Given the description of an element on the screen output the (x, y) to click on. 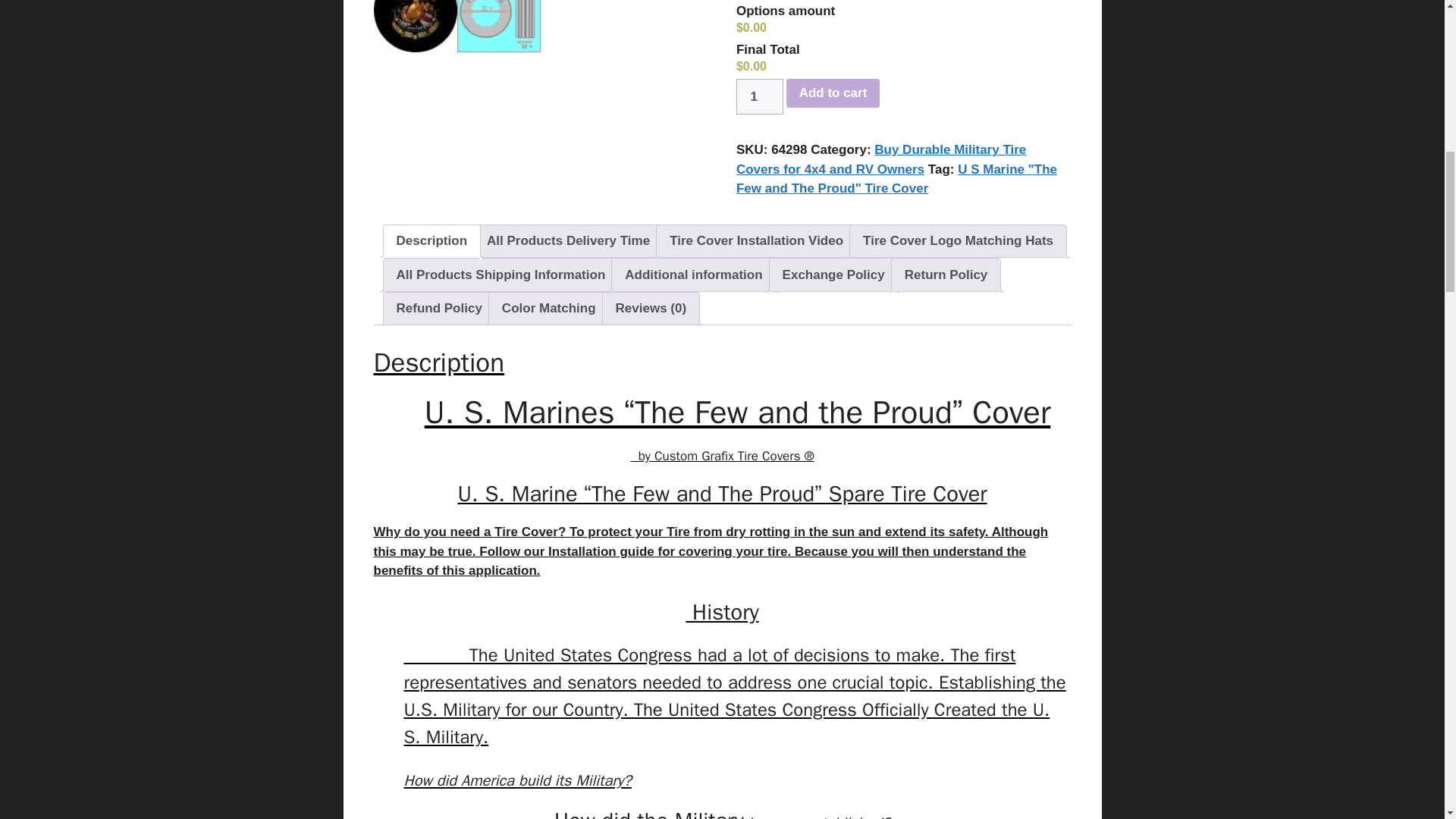
1 (759, 96)
Scroll back to top (1406, 720)
